Given the description of an element on the screen output the (x, y) to click on. 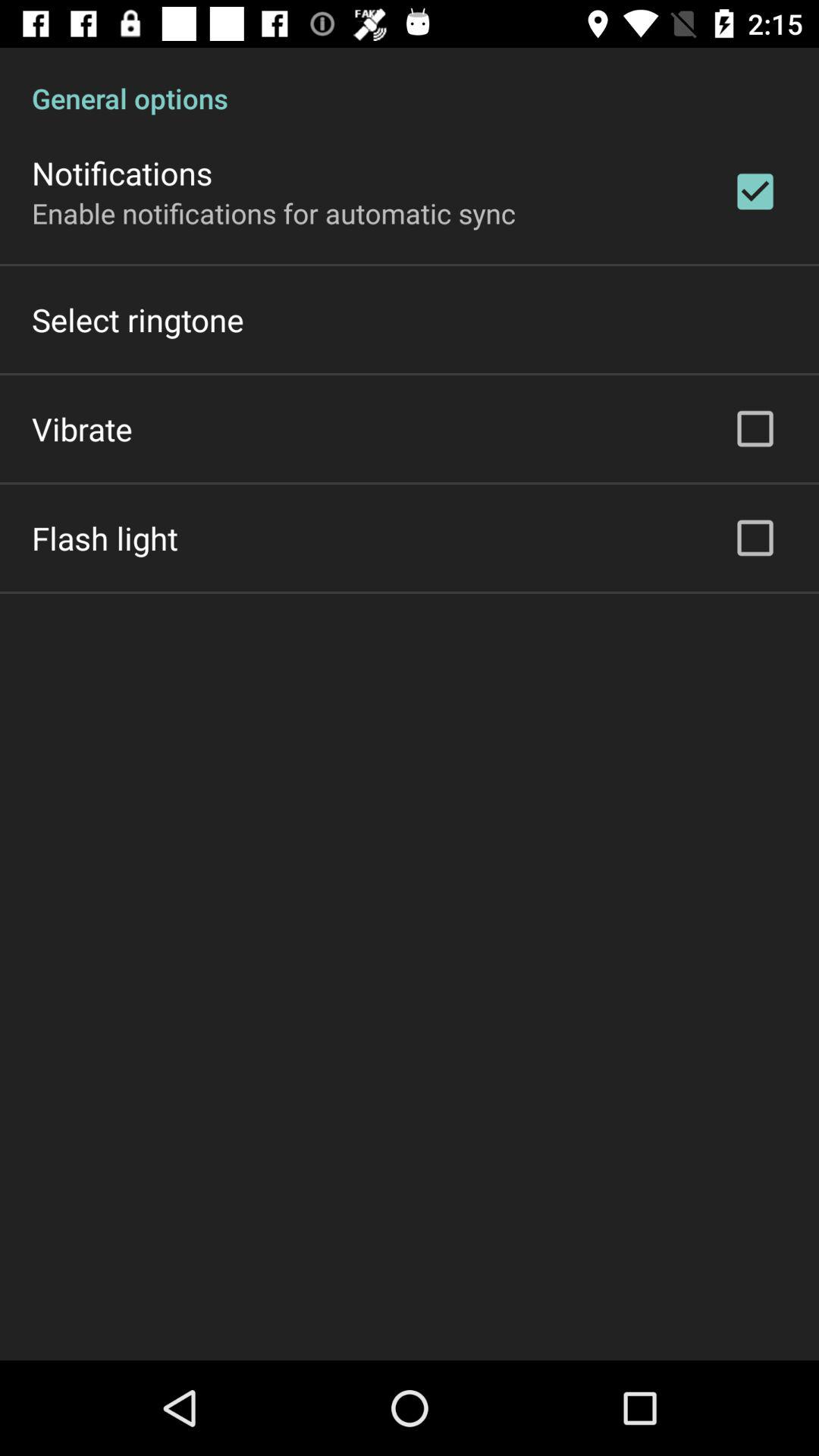
press vibrate item (81, 428)
